Given the description of an element on the screen output the (x, y) to click on. 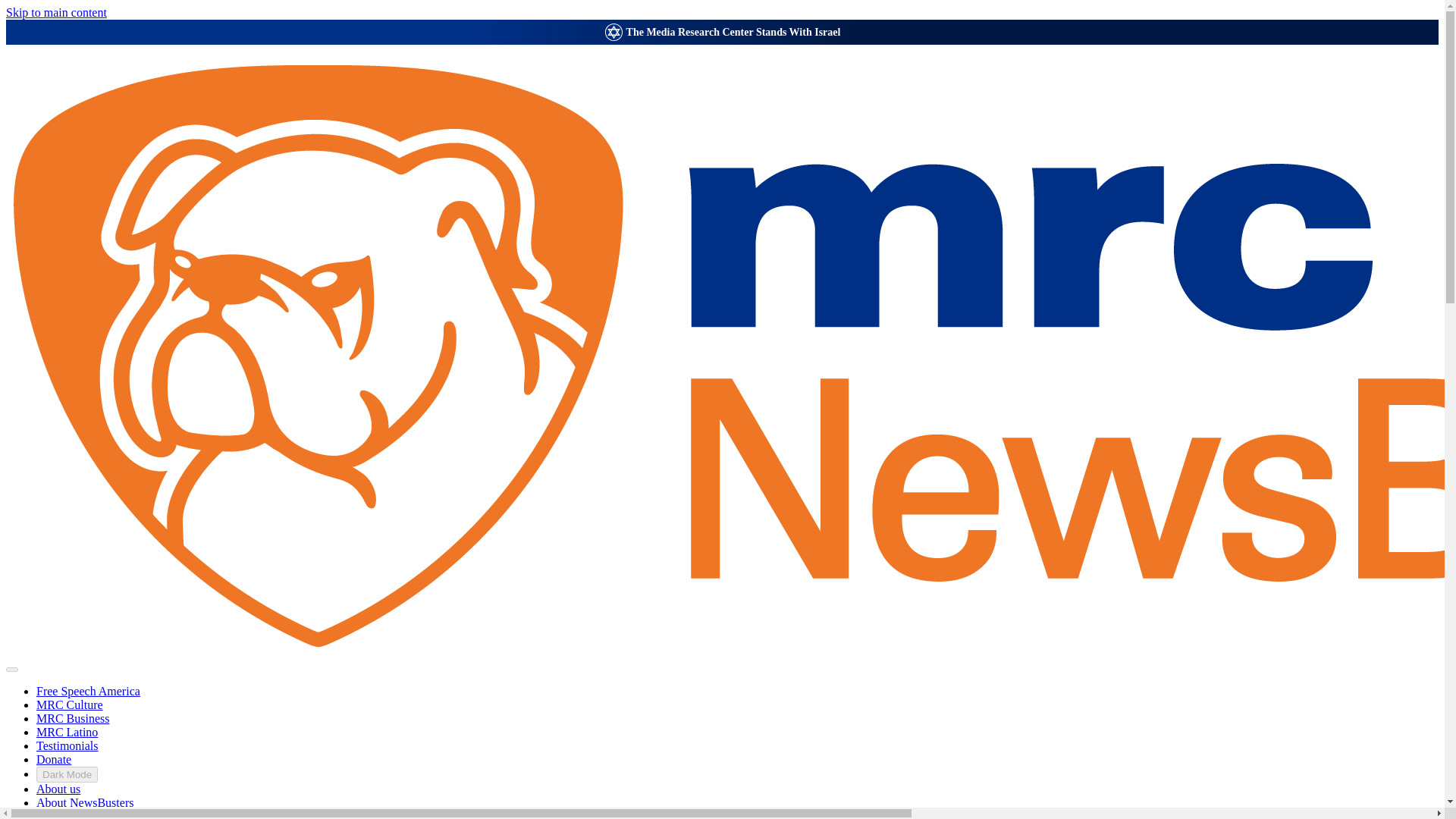
Dark Mode (66, 774)
Skip to main content (55, 11)
